Given the description of an element on the screen output the (x, y) to click on. 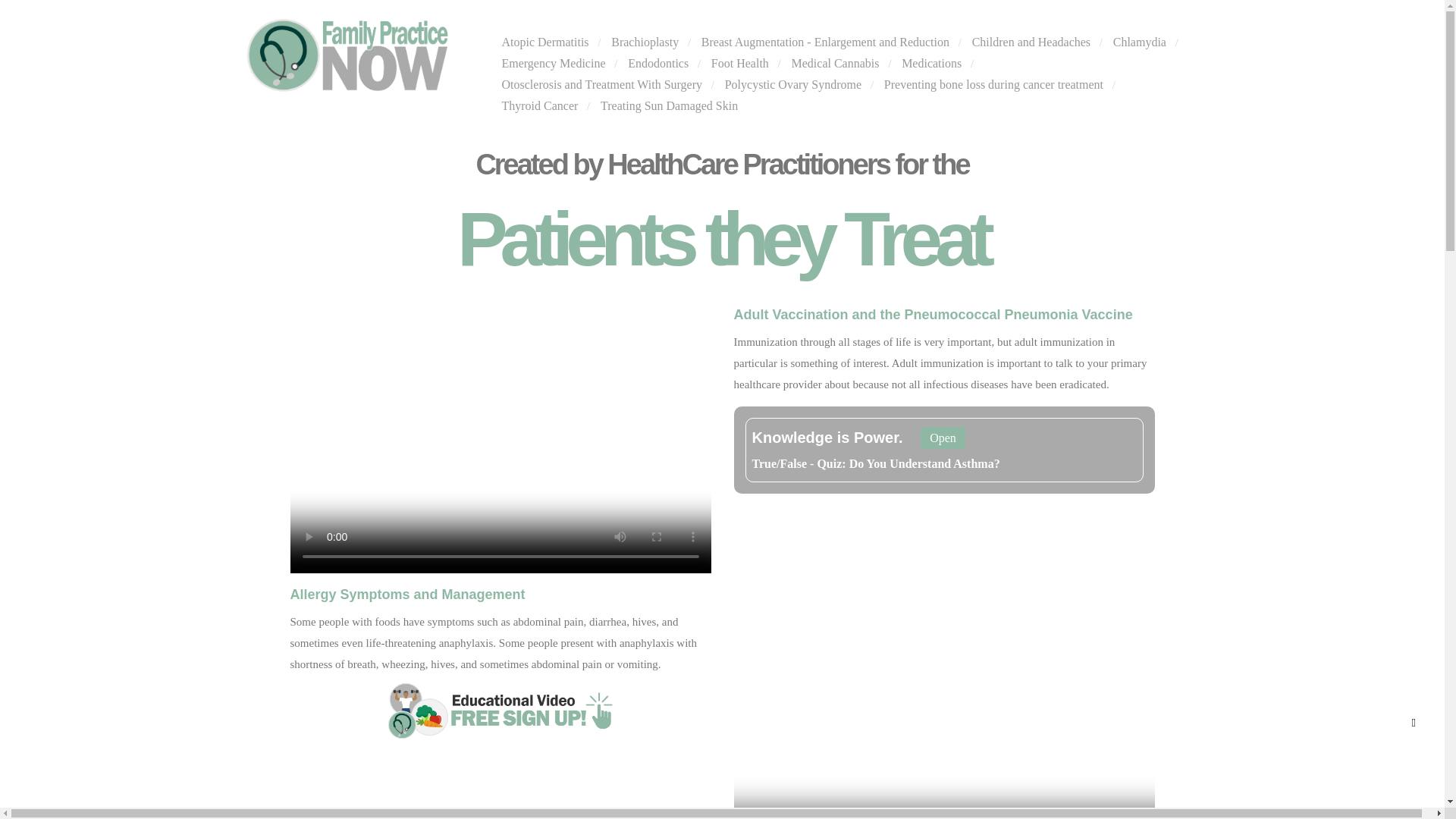
Treating Sun Damaged Skin (668, 107)
Thyroid Cancer (540, 107)
Otosclerosis and Treatment With Surgery (602, 86)
Brachioplasty (644, 44)
Breast Augmentation - Enlargement and Reduction (825, 44)
Preventing bone loss during cancer treatment (993, 86)
Children and Headaches (1031, 44)
Emergency Medicine (553, 64)
Atopic Dermatitis (545, 44)
Chlamydia (1139, 44)
Medical Cannabis (835, 64)
Foot Health (739, 64)
Endodontics (657, 64)
Polycystic Ovary Syndrome (793, 86)
Medications (930, 64)
